Given the description of an element on the screen output the (x, y) to click on. 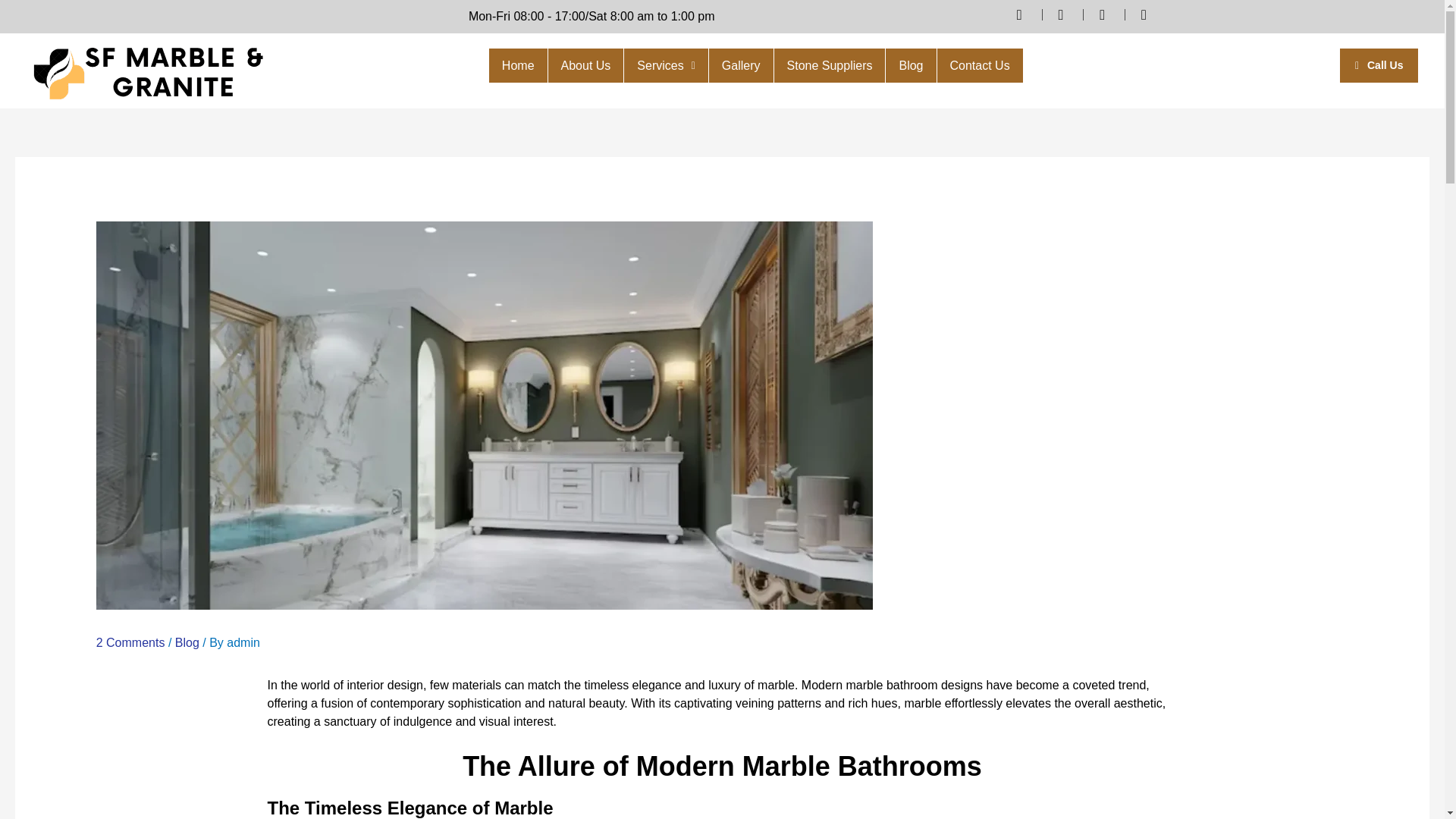
Call Us (1378, 65)
View all posts by admin (243, 642)
Home (518, 65)
Services (665, 65)
sf-marble-and-granite (147, 71)
Blog (186, 642)
Stone Suppliers (829, 65)
Contact Us (980, 65)
2 Comments (130, 642)
Gallery (741, 65)
